Given the description of an element on the screen output the (x, y) to click on. 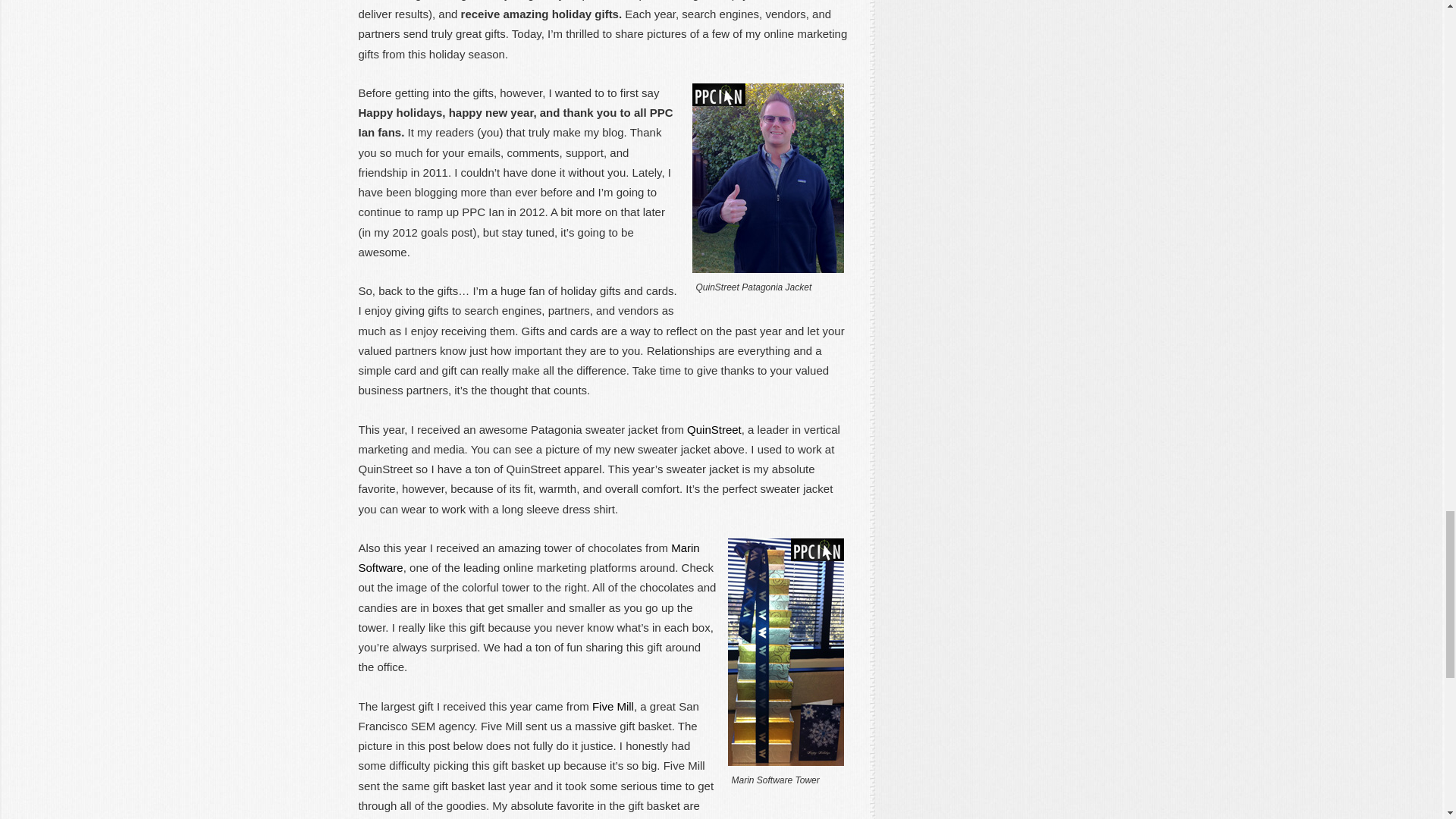
QuinStreet (714, 429)
Marin Software (528, 557)
Five Mill (612, 706)
